Given the description of an element on the screen output the (x, y) to click on. 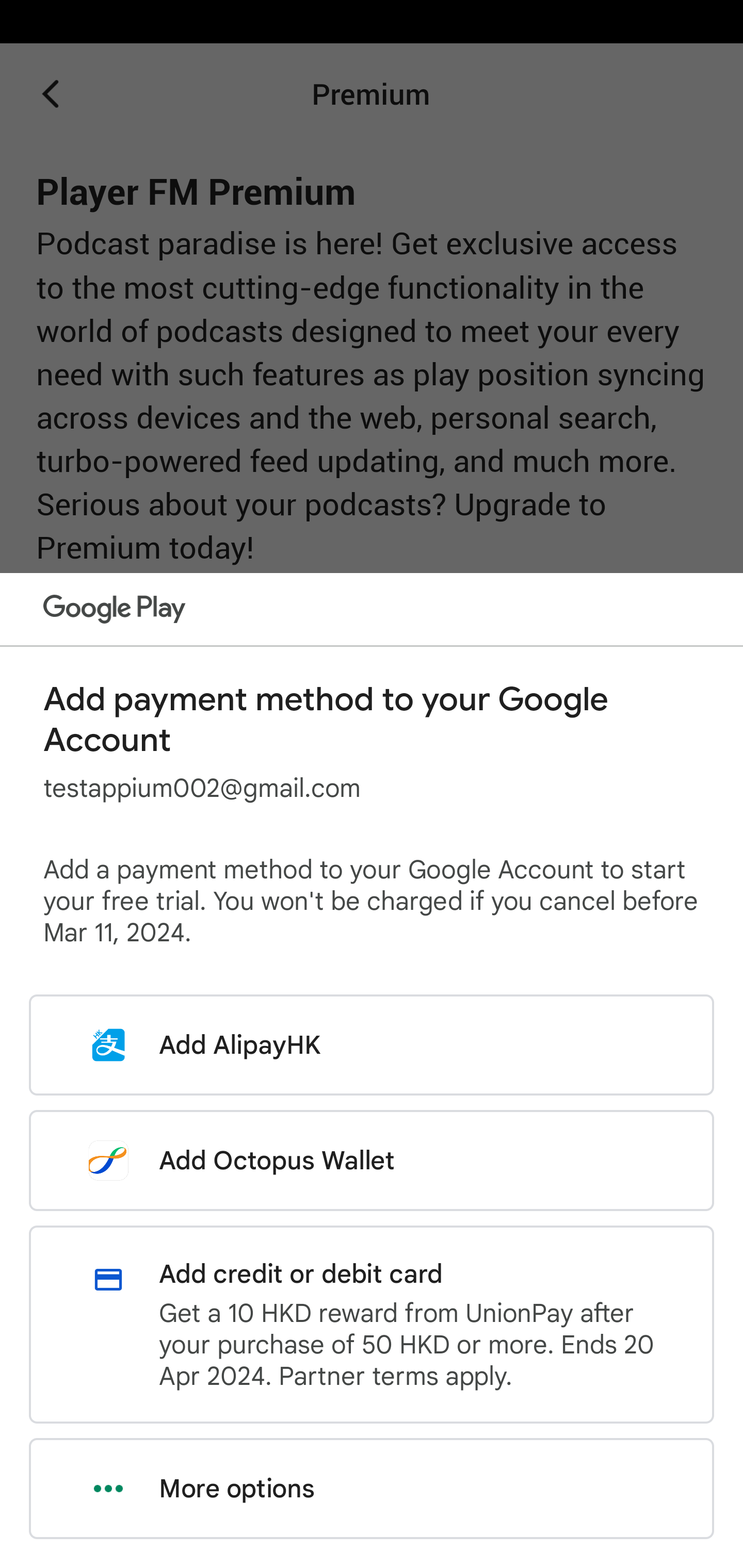
Add AlipayHK (371, 1045)
Add Octopus Wallet (371, 1160)
More options (371, 1488)
